Given the description of an element on the screen output the (x, y) to click on. 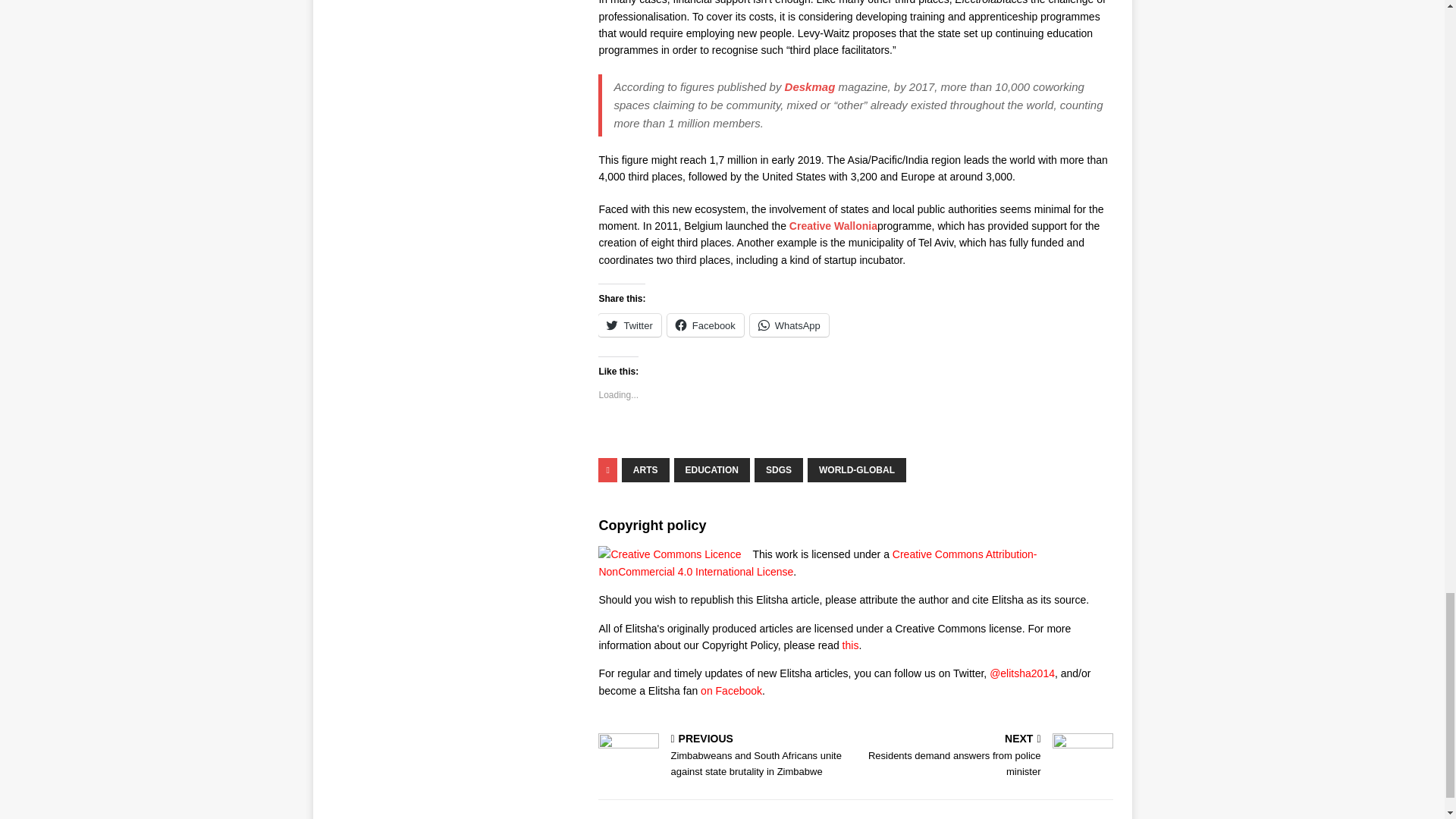
Click to share on Twitter (629, 324)
on Facebook (730, 690)
Creative Wallonia (833, 225)
WORLD-GLOBAL (856, 469)
Facebook (705, 324)
ARTS (645, 469)
Twitter (629, 324)
Click to share on Facebook (705, 324)
Click to share on WhatsApp (788, 324)
SDGS (778, 469)
EDUCATION (711, 469)
Deskmag (809, 86)
this (851, 645)
WhatsApp (788, 324)
